Given the description of an element on the screen output the (x, y) to click on. 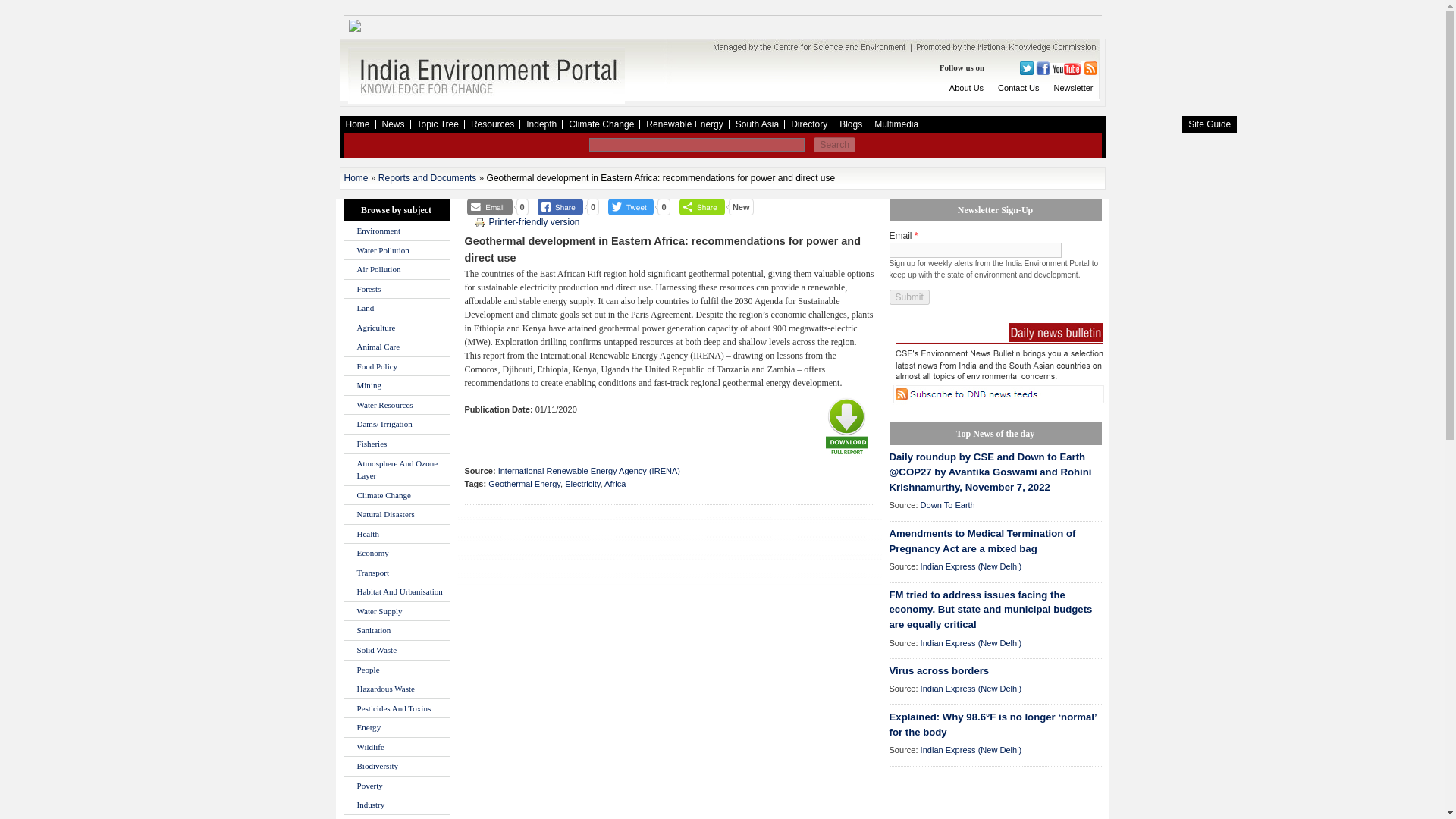
Renewable Energy (684, 124)
Search (834, 144)
Newsletter (1073, 88)
Topic Tree aka thesaurus tree (437, 124)
Submit (908, 296)
rss (1088, 68)
Resources (491, 124)
Facebook (1040, 68)
Indepth (540, 124)
Topic Tree (437, 124)
youtube (1064, 69)
South Asia (756, 124)
News (392, 124)
Contact Us (1018, 88)
